Given the description of an element on the screen output the (x, y) to click on. 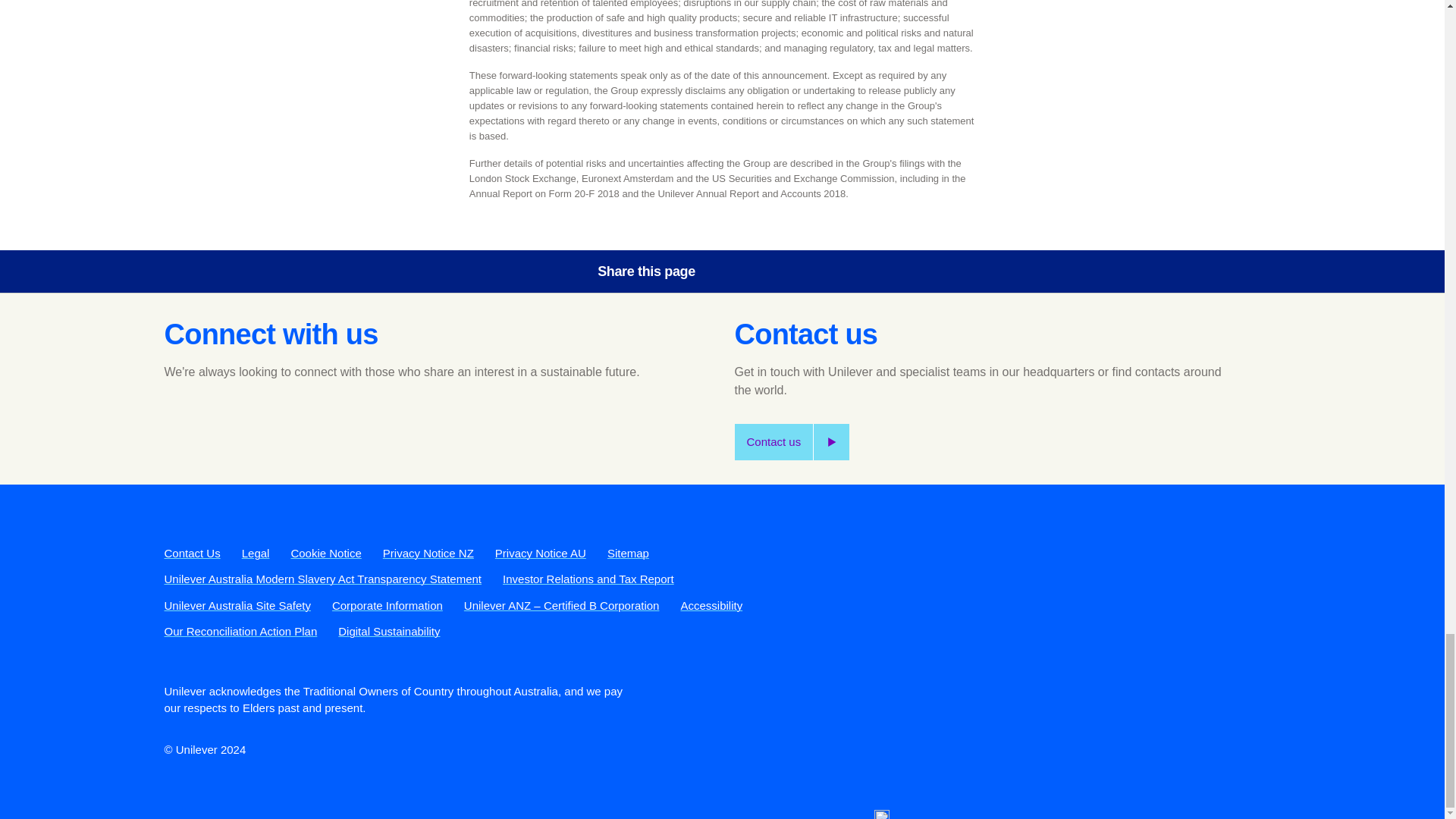
Share this page on Facebook (740, 271)
Share this page on Linked In (825, 271)
Share this page on X (782, 271)
Share this page on E-mail (868, 271)
